Given the description of an element on the screen output the (x, y) to click on. 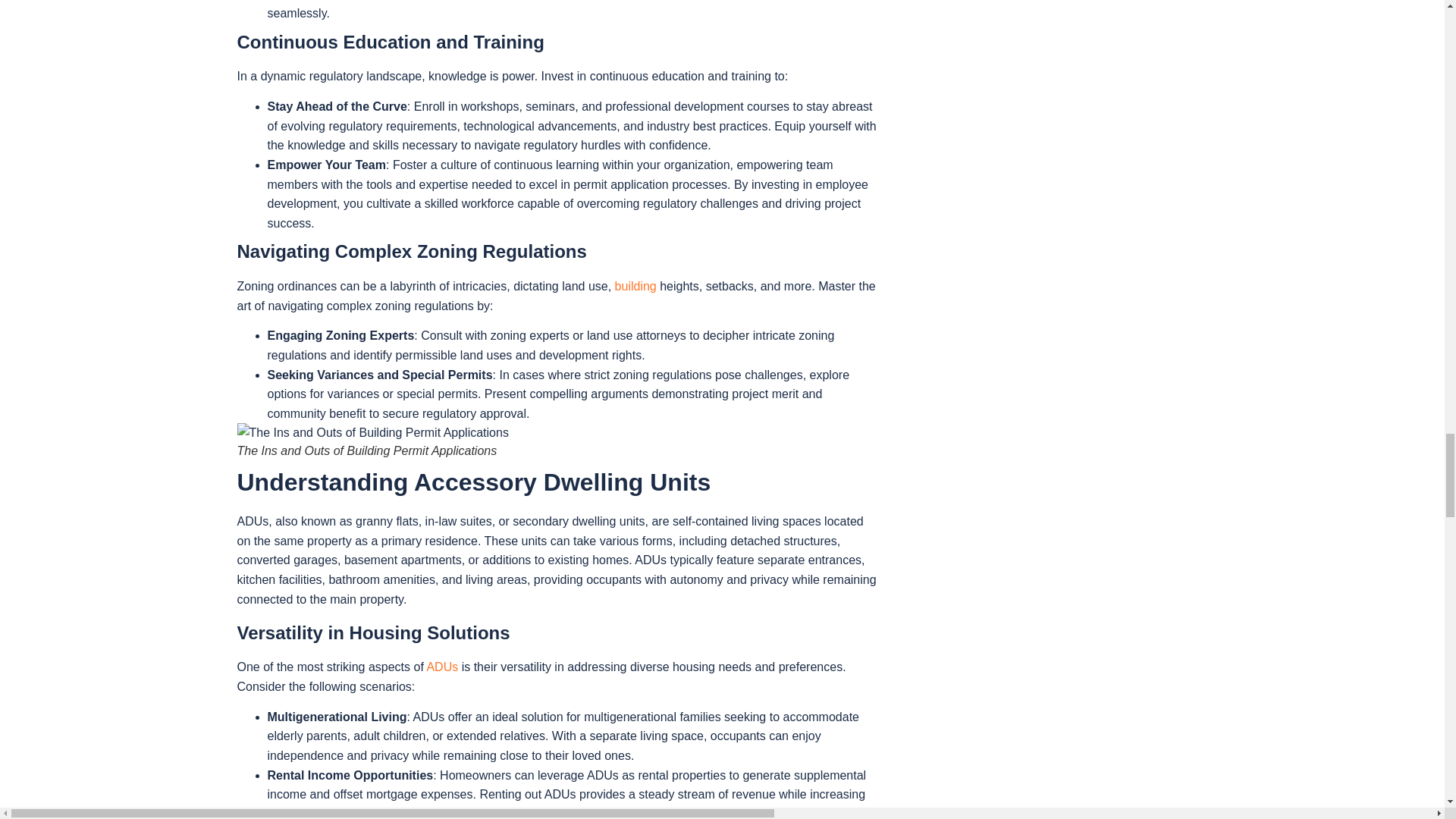
building (635, 286)
ADUs (442, 666)
